Given the description of an element on the screen output the (x, y) to click on. 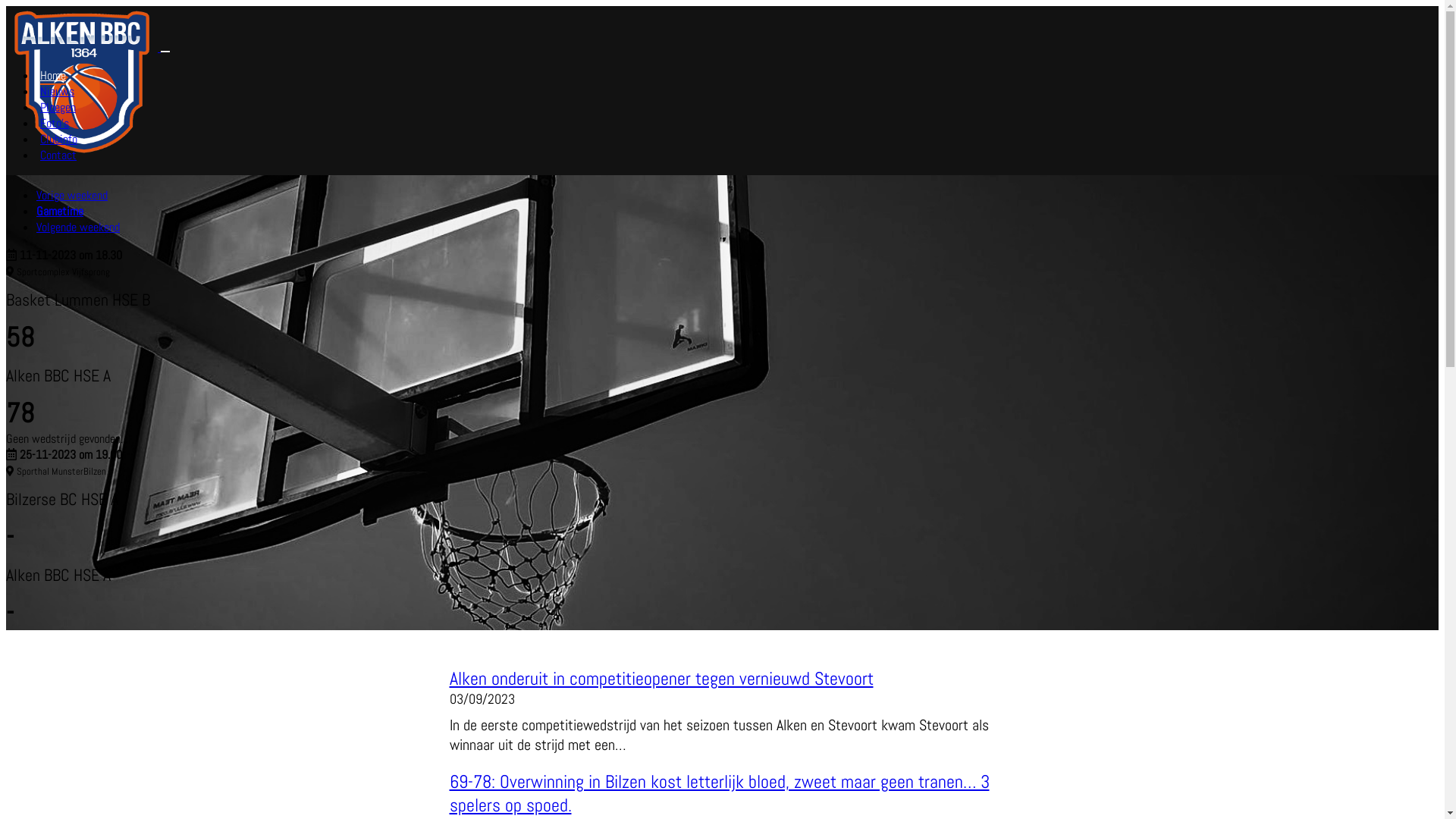
Alken onderuit in competitieopener tegen vernieuwd Stevoort Element type: text (660, 678)
Clubinfo Element type: text (58, 139)
Home Element type: text (52, 75)
Contact Element type: text (58, 155)
Gametime Element type: text (59, 211)
Vorige weekend Element type: text (71, 195)
Ploegen Element type: text (57, 107)
Nieuws Element type: text (57, 91)
Volgende weekend Element type: text (77, 227)
